Given the description of an element on the screen output the (x, y) to click on. 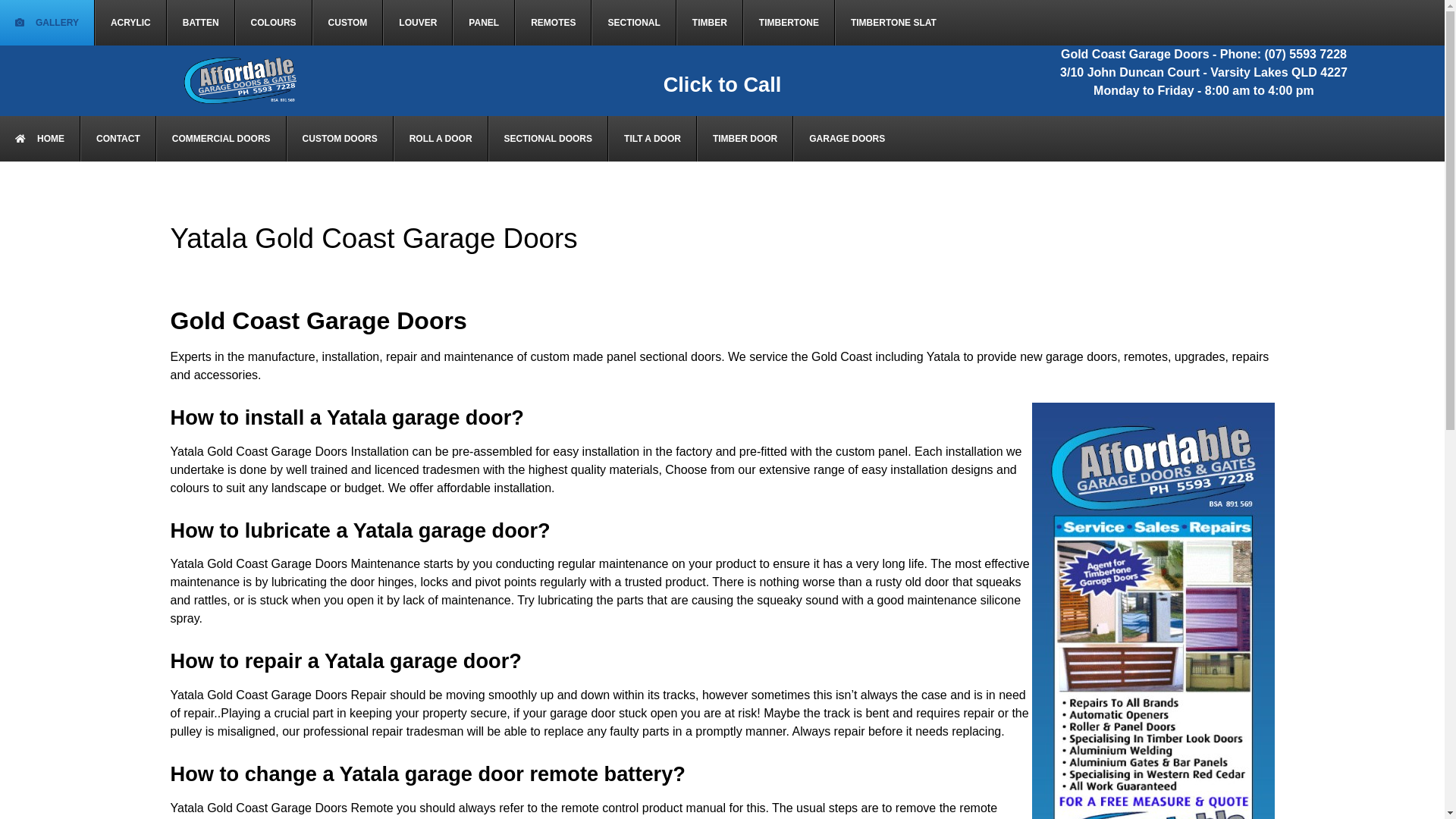
SECTIONAL Element type: text (633, 22)
GARAGE DOORS Element type: text (846, 138)
Affordable Garage Doors Element type: hover (240, 80)
HOME Element type: text (40, 138)
Click to Call Element type: text (722, 84)
COMMERCIAL DOORS Element type: text (221, 138)
CUSTOM DOORS Element type: text (339, 138)
CUSTOM Element type: text (347, 22)
SECTIONAL DOORS Element type: text (548, 138)
BATTEN Element type: text (200, 22)
LOUVER Element type: text (417, 22)
PANEL Element type: text (483, 22)
TIMBERTONE Element type: text (788, 22)
ACRYLIC Element type: text (130, 22)
TIMBER Element type: text (709, 22)
TILT A DOOR Element type: text (652, 138)
TIMBERTONE SLAT Element type: text (892, 22)
ROLL A DOOR Element type: text (440, 138)
COLOURS Element type: text (273, 22)
CONTACT Element type: text (118, 138)
REMOTES Element type: text (552, 22)
TIMBER DOOR Element type: text (744, 138)
GALLERY Element type: text (47, 22)
